Given the description of an element on the screen output the (x, y) to click on. 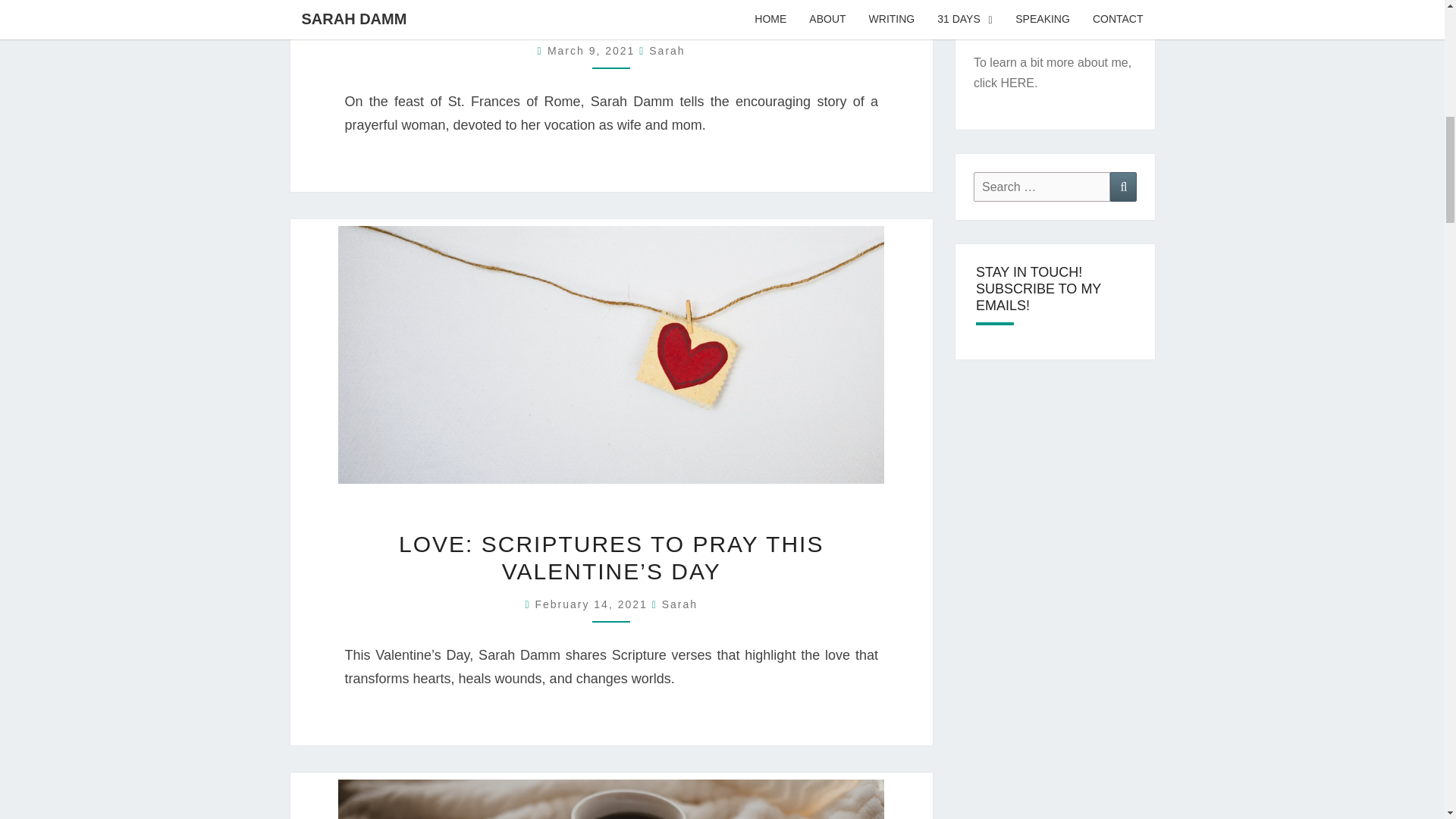
March 9, 2021 (593, 50)
View all posts by Sarah (679, 604)
February 14, 2021 (592, 604)
Sarah (679, 604)
12:20 pm (592, 604)
Sarah (666, 50)
11:14 am (593, 50)
ON THE FEAST OF ST. FRANCES: A SAINT WHO STRUGGLED, TOO (611, 15)
View all posts by Sarah (666, 50)
